Given the description of an element on the screen output the (x, y) to click on. 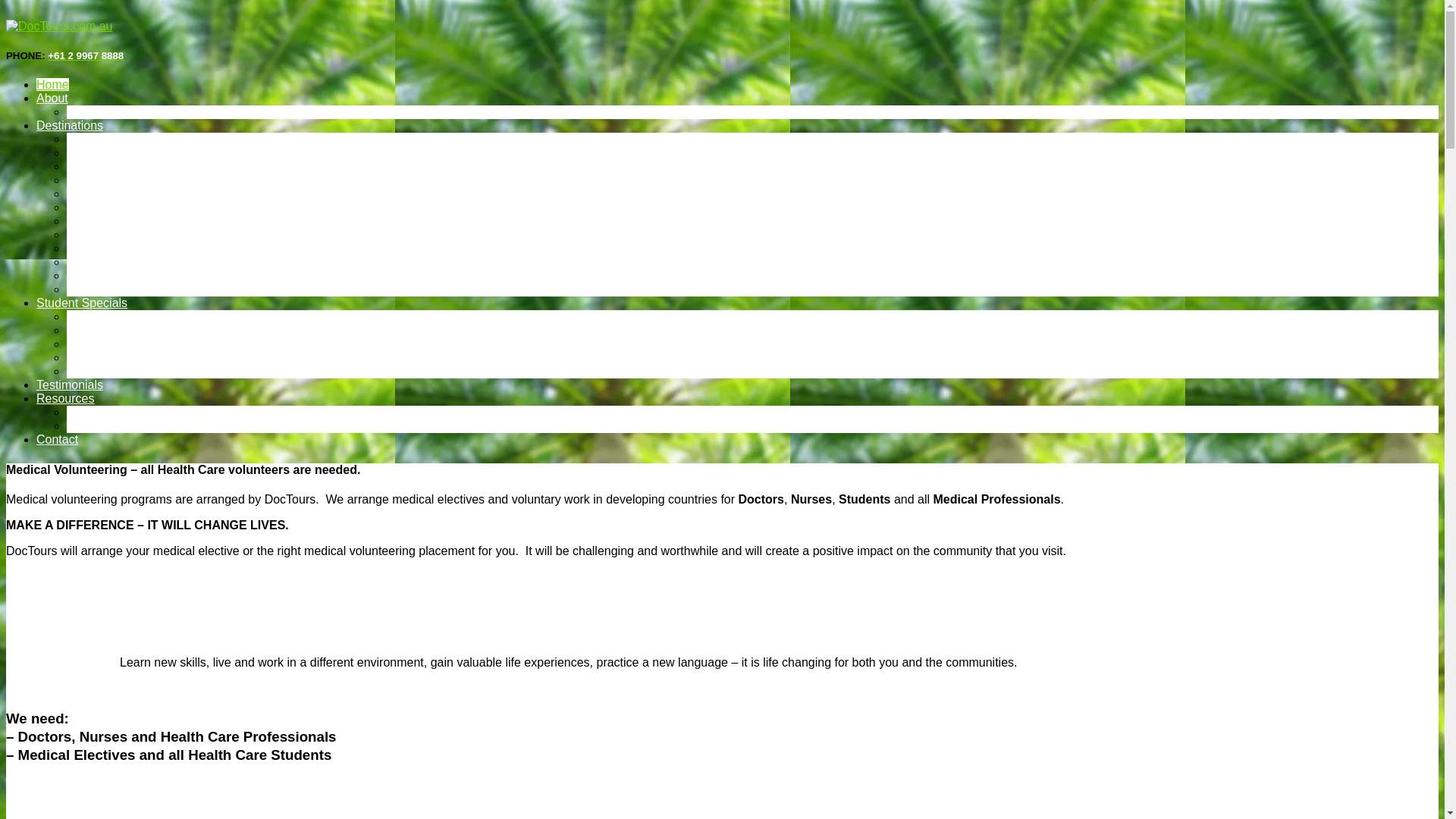
Fiji for students Element type: text (107, 316)
Resources Element type: text (65, 398)
Blog Element type: text (78, 411)
Destinations Element type: text (69, 125)
APPLY NOW Element type: text (102, 275)
Nepal for students Element type: text (115, 329)
Sri Lanka Element type: text (92, 206)
FAQs Element type: text (81, 425)
Photo Galleries Element type: text (107, 288)
Sri Lanka for students Element type: text (125, 343)
Media & News Element type: text (105, 111)
Nepal Element type: text (82, 193)
About Element type: text (52, 97)
Testimonials Element type: text (69, 384)
Tonga for students Element type: text (116, 357)
Home Element type: text (52, 84)
Cambodia Element type: text (94, 138)
Vietnam for students Element type: text (121, 370)
Medical Electives in Vietnam and Medical Volunteering Element type: text (213, 261)
Tanzania Element type: text (90, 220)
+61 2 9967 8888 Element type: text (85, 55)
Fiji Element type: text (73, 166)
Contact Element type: text (57, 439)
Ecuador Element type: text (89, 152)
Namibia Element type: text (88, 179)
Tonga Element type: text (83, 247)
Student Specials Element type: text (81, 302)
Timor Leste Element type: text (98, 234)
